Given the description of an element on the screen output the (x, y) to click on. 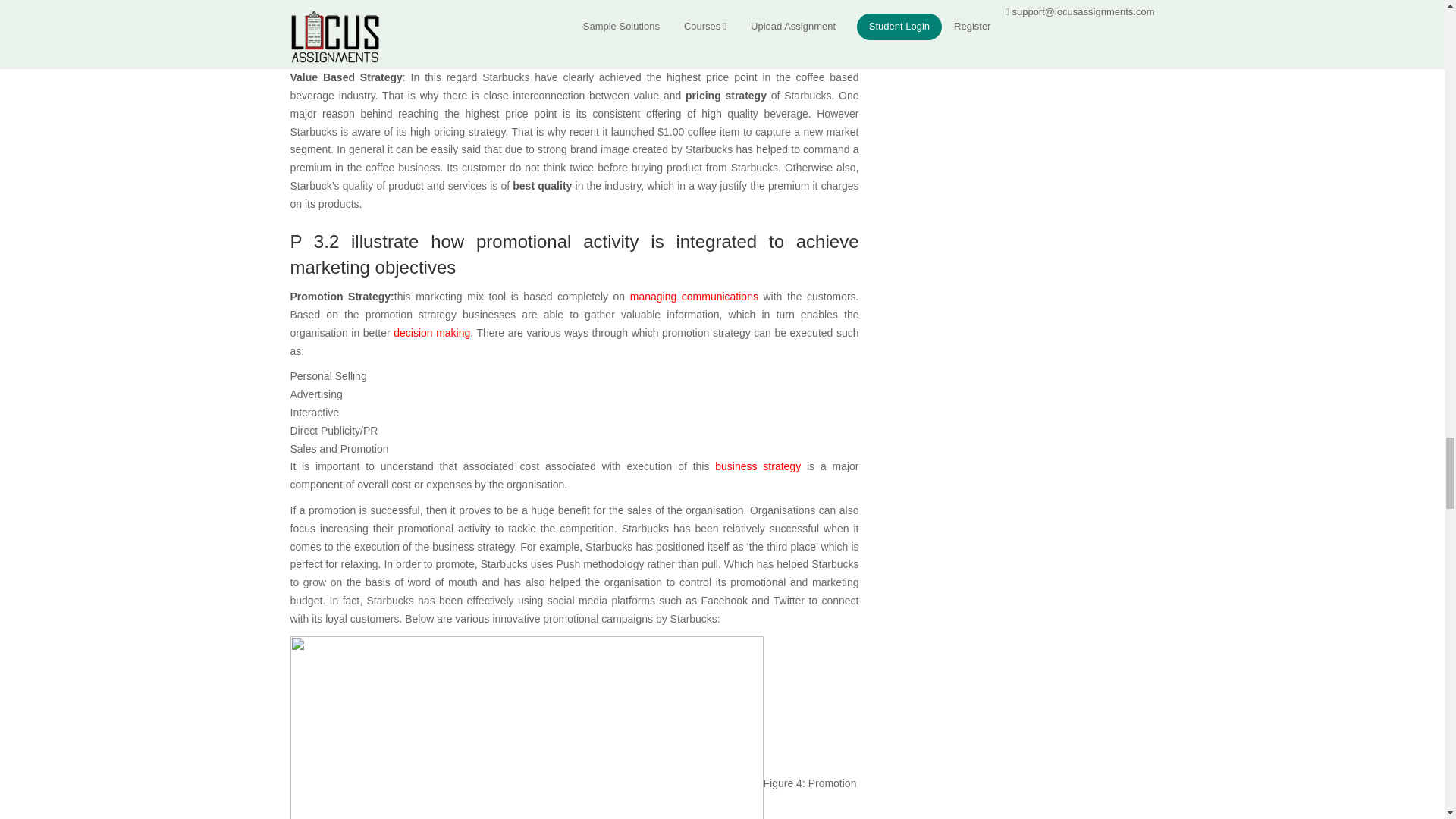
decision making (431, 332)
managing communications (694, 296)
business strategy (757, 466)
